Given the description of an element on the screen output the (x, y) to click on. 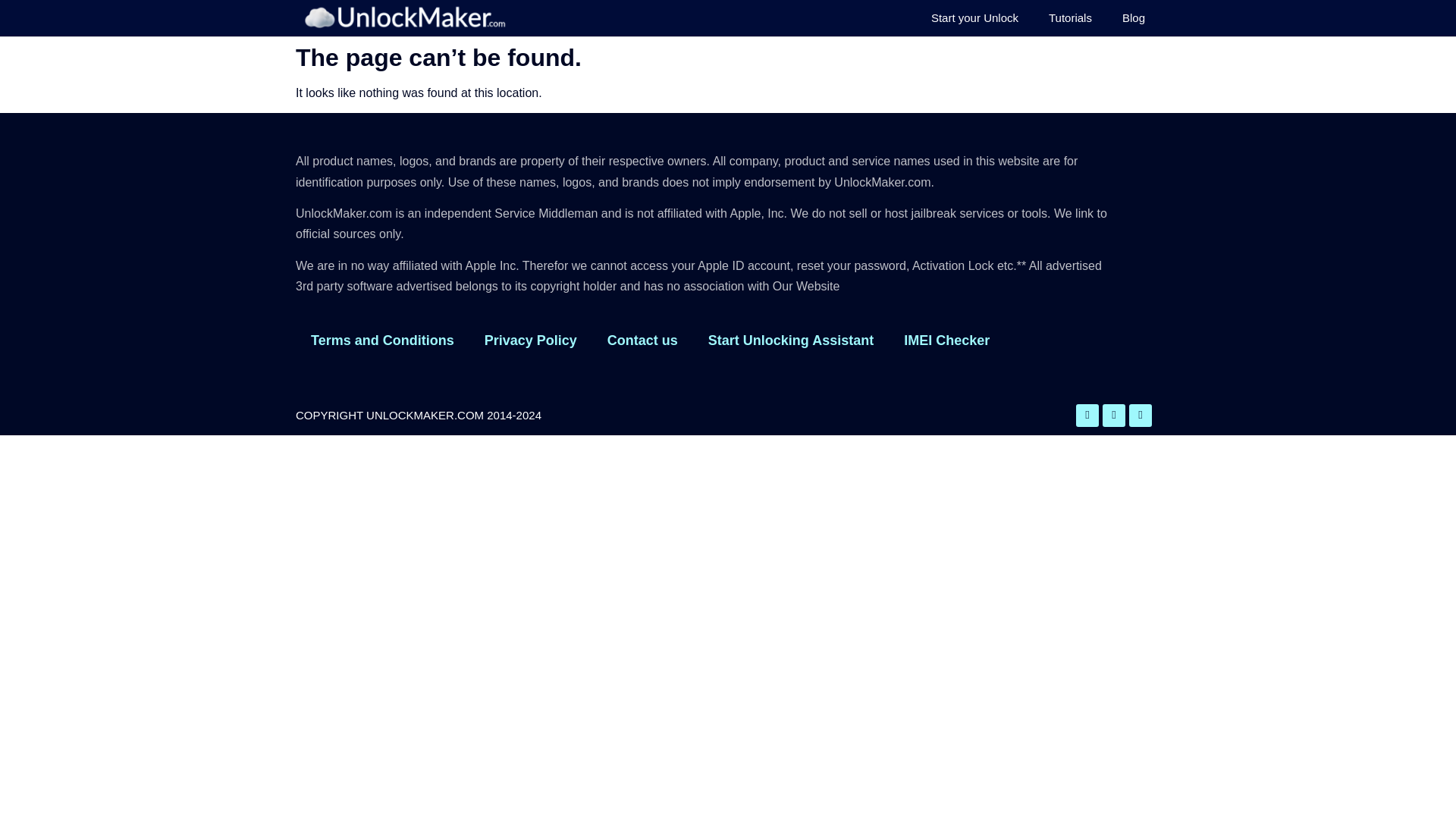
Start your Unlock (974, 18)
Tutorials (1069, 18)
Blog (1133, 18)
